Given the description of an element on the screen output the (x, y) to click on. 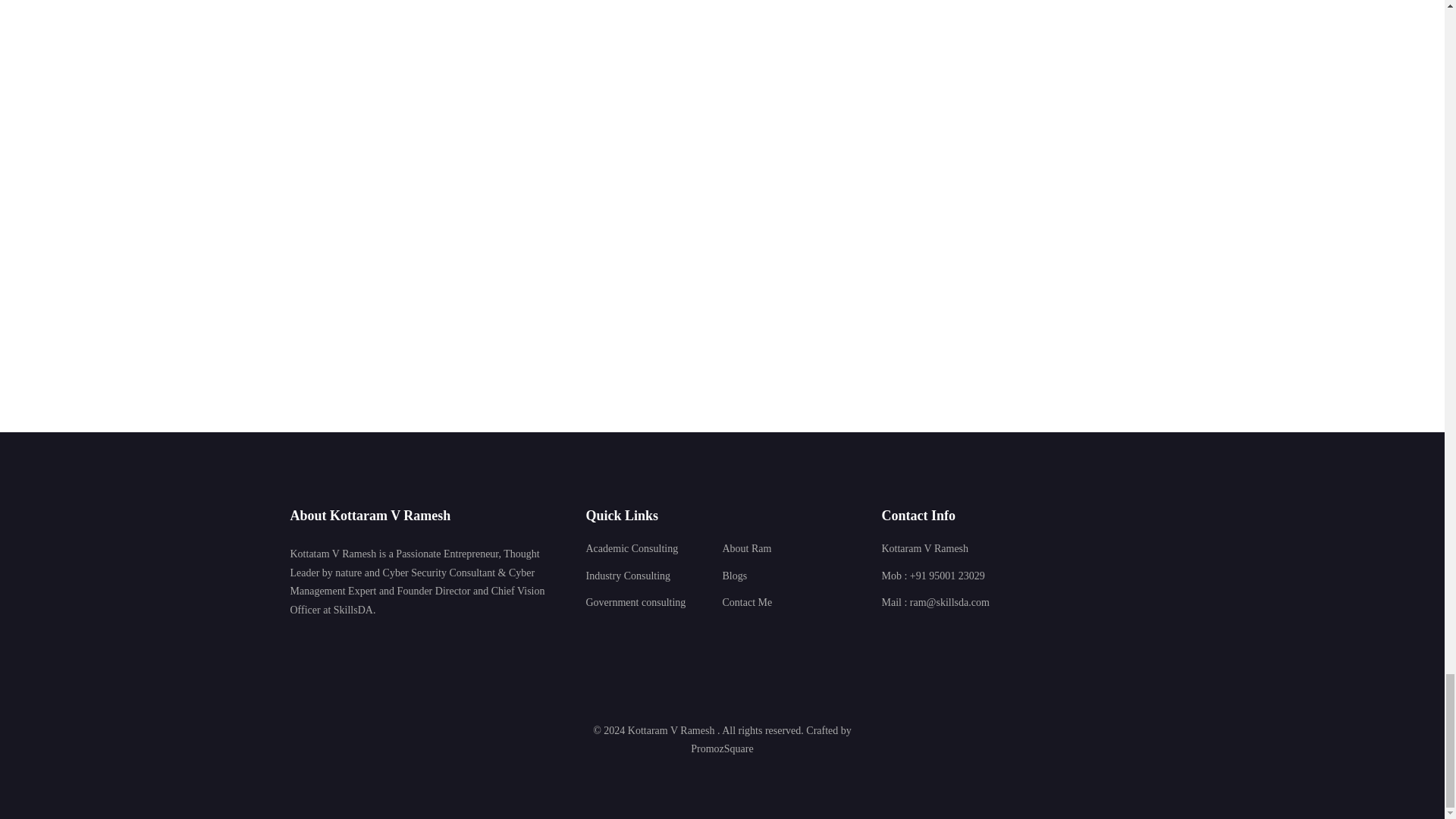
Academic Consulting (631, 548)
About Ram (746, 548)
Industry Consulting (627, 576)
Government consulting (635, 602)
Blogs (734, 576)
Contact Me (746, 602)
PromozSquare (721, 749)
